Given the description of an element on the screen output the (x, y) to click on. 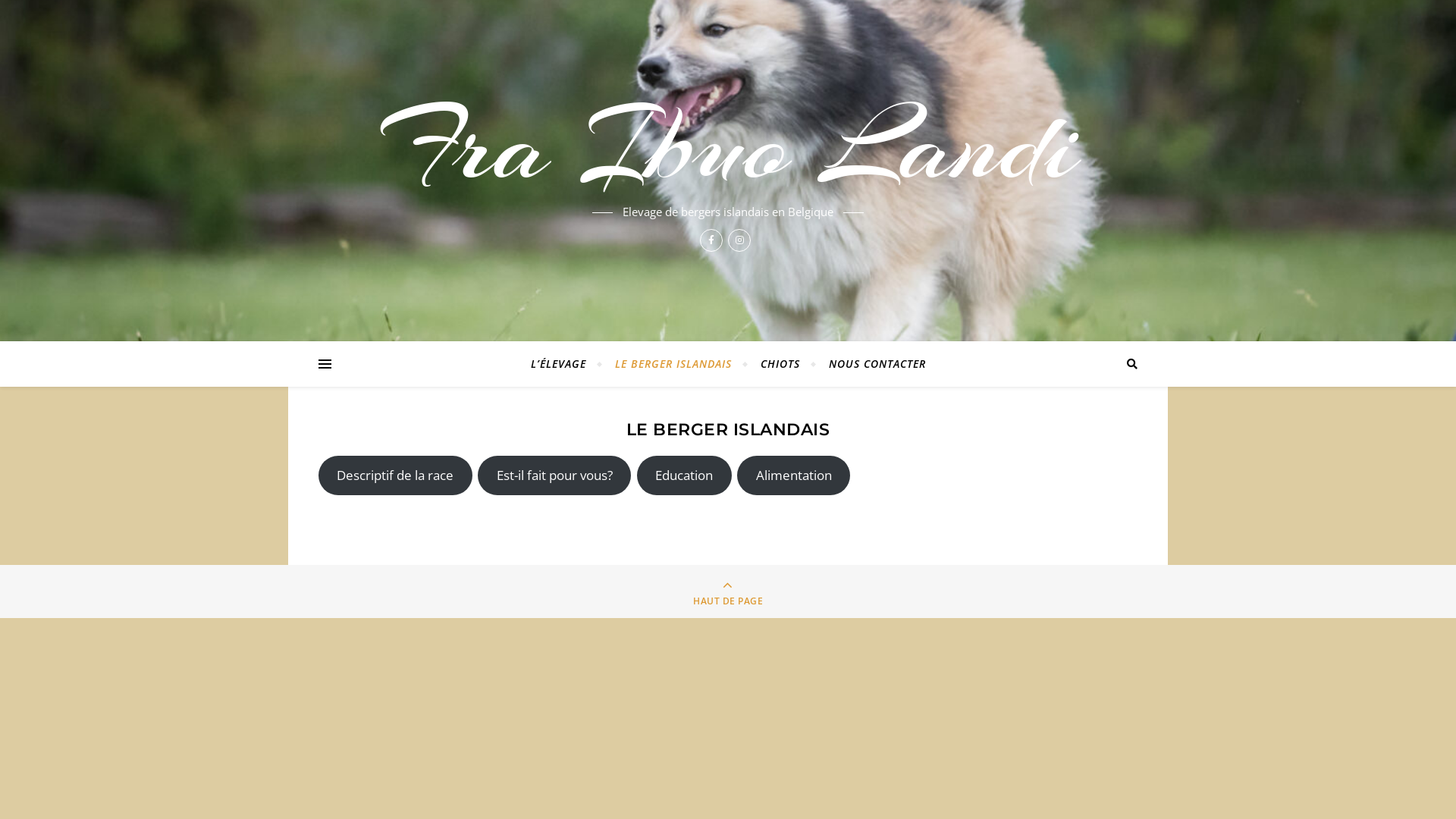
Alimentation Element type: text (793, 475)
LE BERGER ISLANDAIS Element type: text (673, 363)
CHIOTS Element type: text (779, 363)
Education Element type: text (684, 475)
NOUS CONTACTER Element type: text (870, 363)
Descriptif de la race Element type: text (395, 475)
Est-il fait pour vous? Element type: text (553, 475)
